Given the description of an element on the screen output the (x, y) to click on. 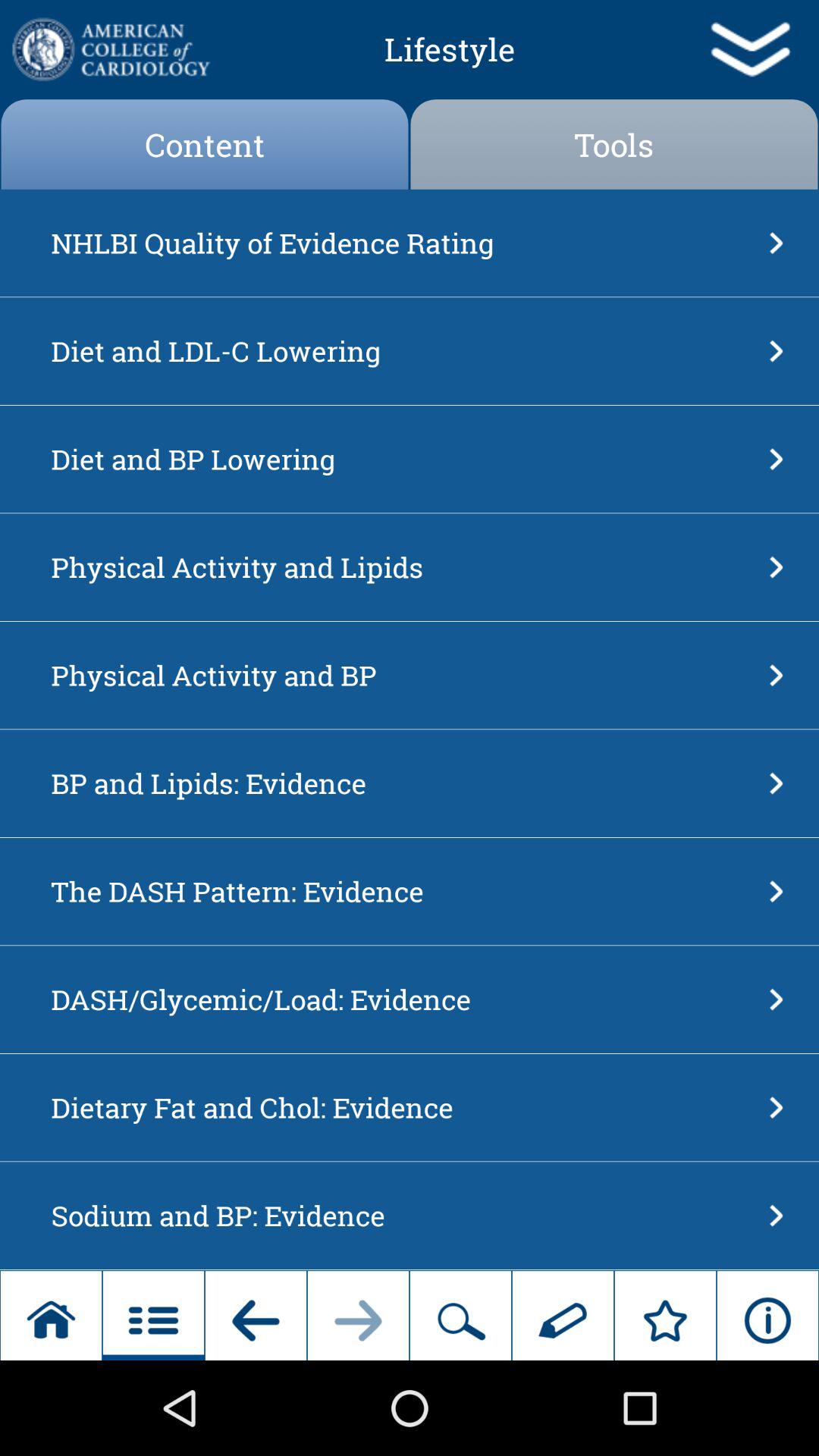
press app above nhlbi quality of icon (204, 144)
